Given the description of an element on the screen output the (x, y) to click on. 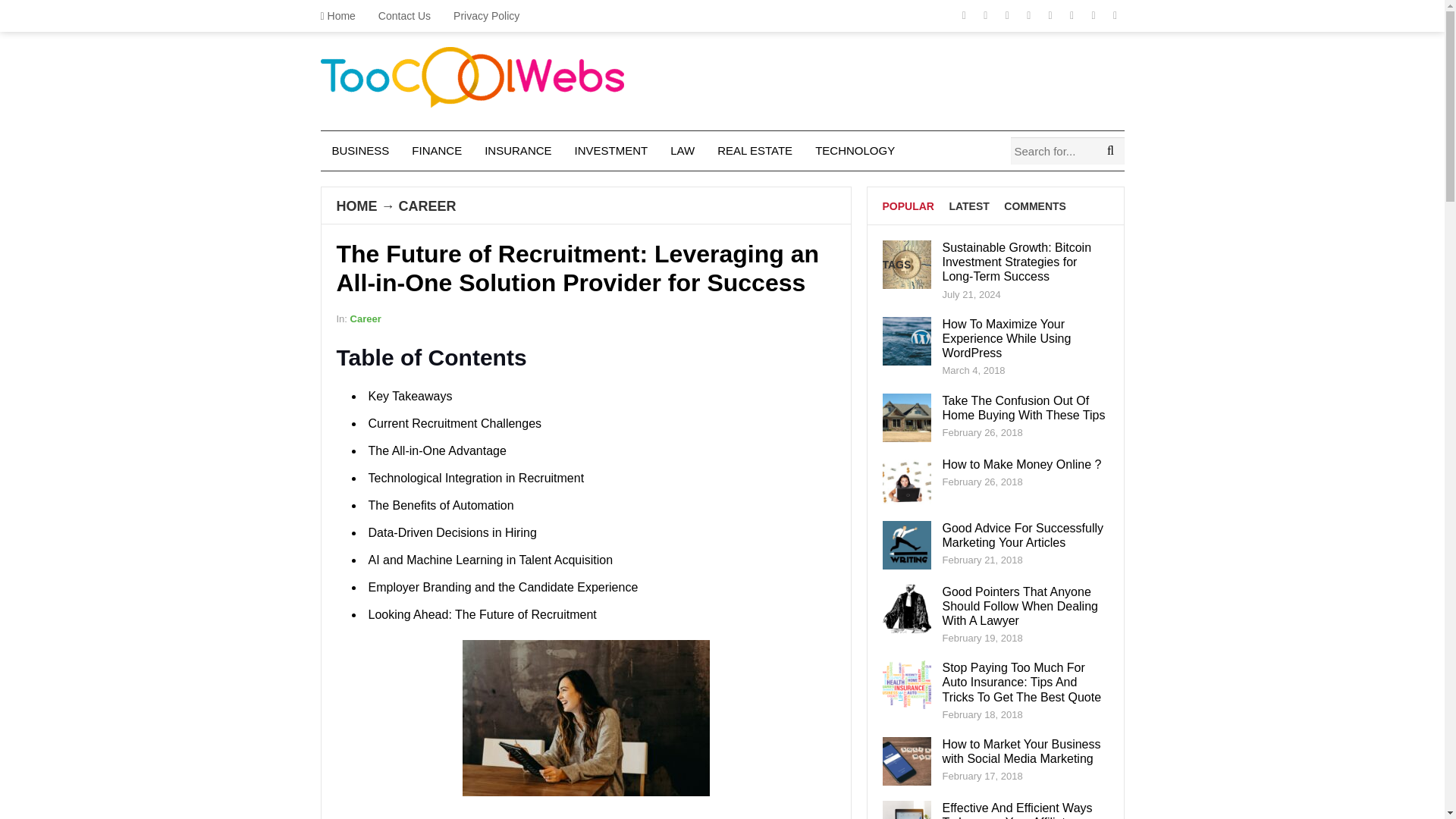
LAW (682, 150)
Contact Us (404, 15)
Home (343, 15)
INSURANCE (517, 150)
HOME (356, 206)
BUSINESS (360, 150)
Privacy Policy (486, 15)
TECHNOLOGY (854, 150)
FINANCE (436, 150)
Popular (908, 206)
INVESTMENT (611, 150)
REAL ESTATE (754, 150)
Career (365, 318)
Latest (968, 206)
Comments (1034, 206)
